Given the description of an element on the screen output the (x, y) to click on. 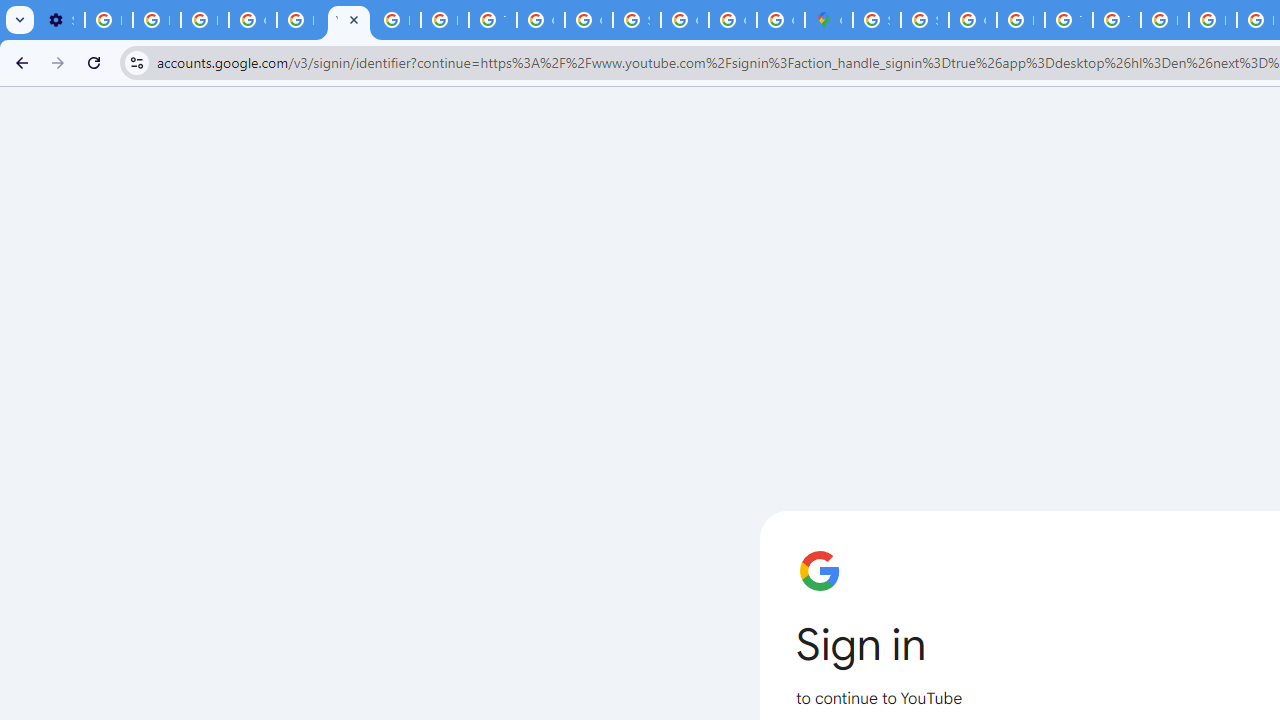
Blogger Policies and Guidelines - Transparency Center (1164, 20)
Sign in - Google Accounts (924, 20)
Sign in - Google Accounts (876, 20)
